Given the description of an element on the screen output the (x, y) to click on. 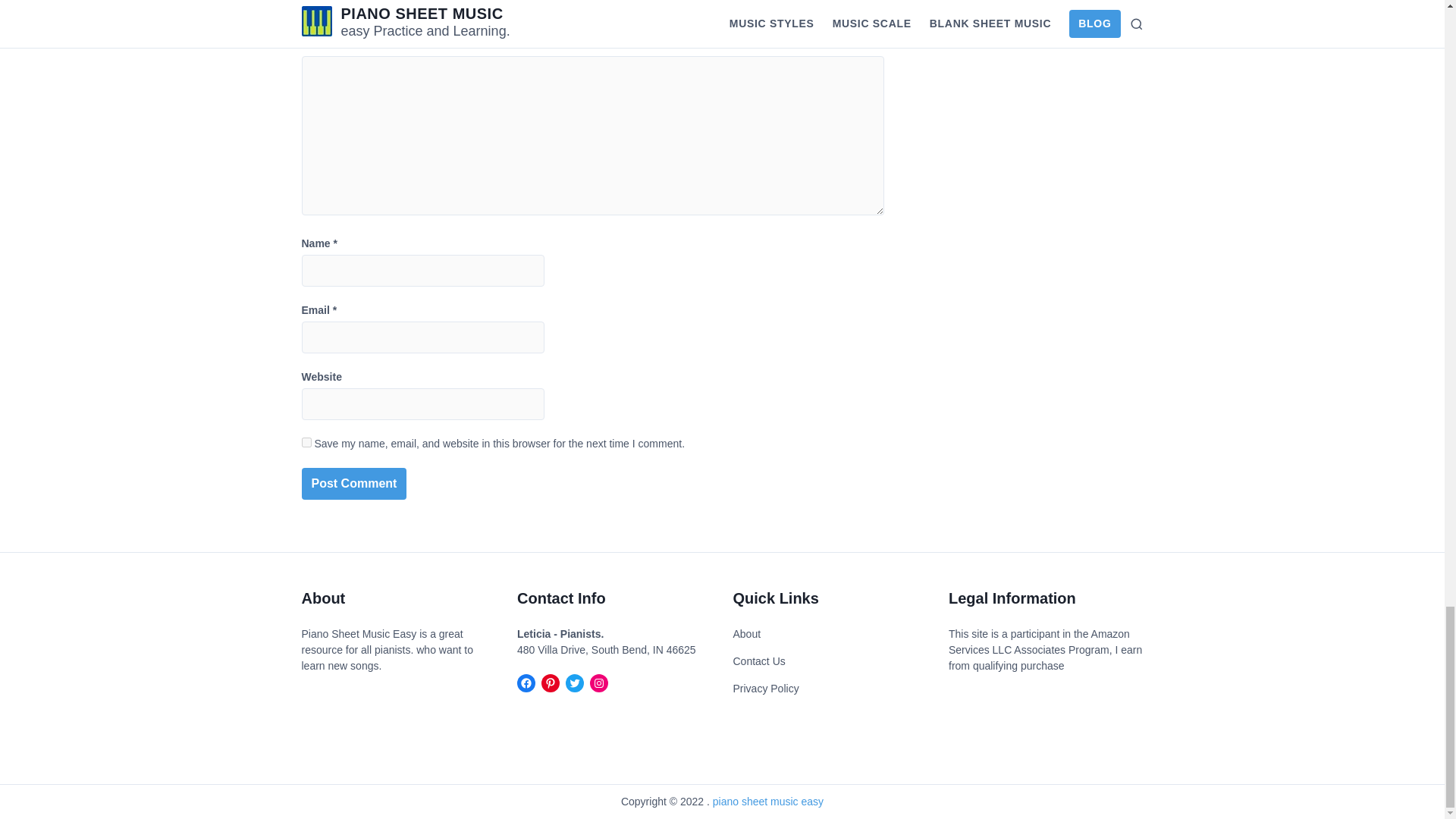
DMCA.com Protection Status (347, 704)
About (746, 634)
Instagram (598, 683)
Pinterest (550, 683)
Post Comment (354, 483)
Facebook (525, 683)
Privacy Policy (764, 688)
Twitter (574, 683)
yes (306, 442)
Contact Us (758, 661)
piano sheet music easy (768, 800)
Post Comment (354, 483)
